Given the description of an element on the screen output the (x, y) to click on. 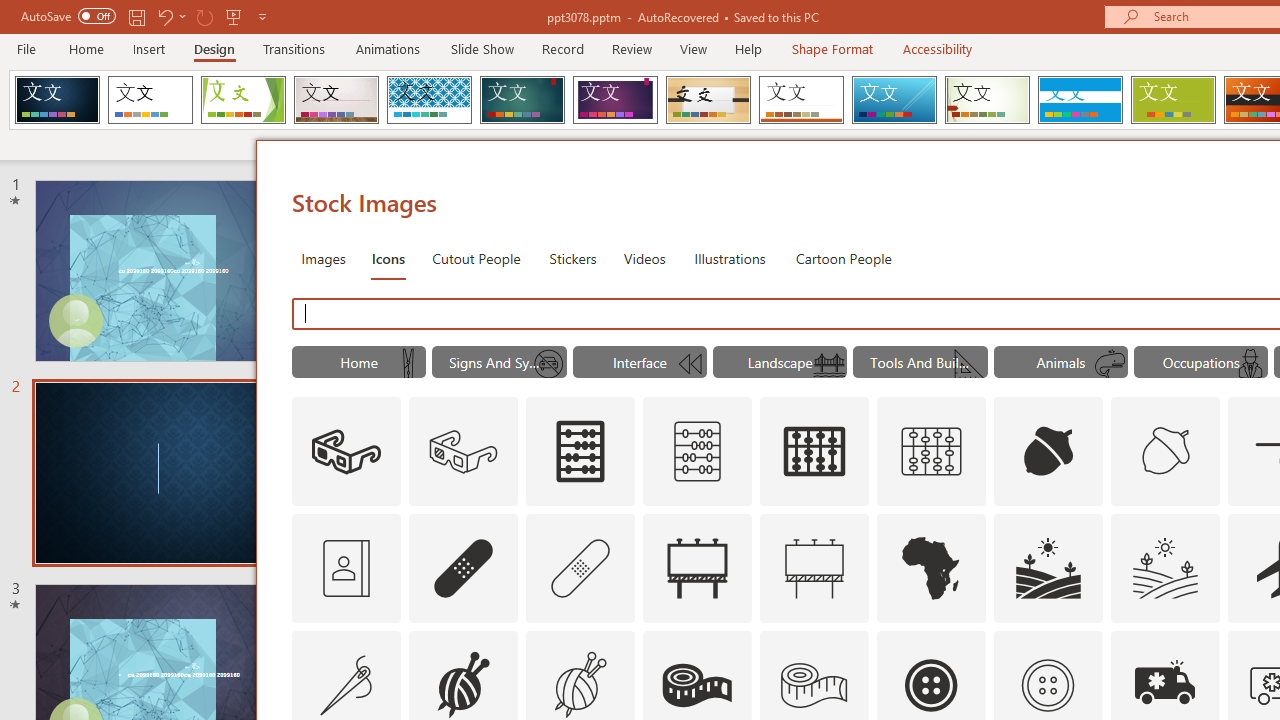
AutomationID: Icons_TriangleRuler_M (970, 364)
AutomationID: Icons_Acorn (1048, 452)
AutomationID: Icons_AdhesiveBandage_M (580, 568)
"Landscape" Icons. (779, 362)
AutomationID: Icons_Peg_M (408, 364)
Retrospect (801, 100)
"Home" Icons. (358, 362)
AutomationID: Icons_Advertising (697, 568)
Banded (1080, 100)
